Given the description of an element on the screen output the (x, y) to click on. 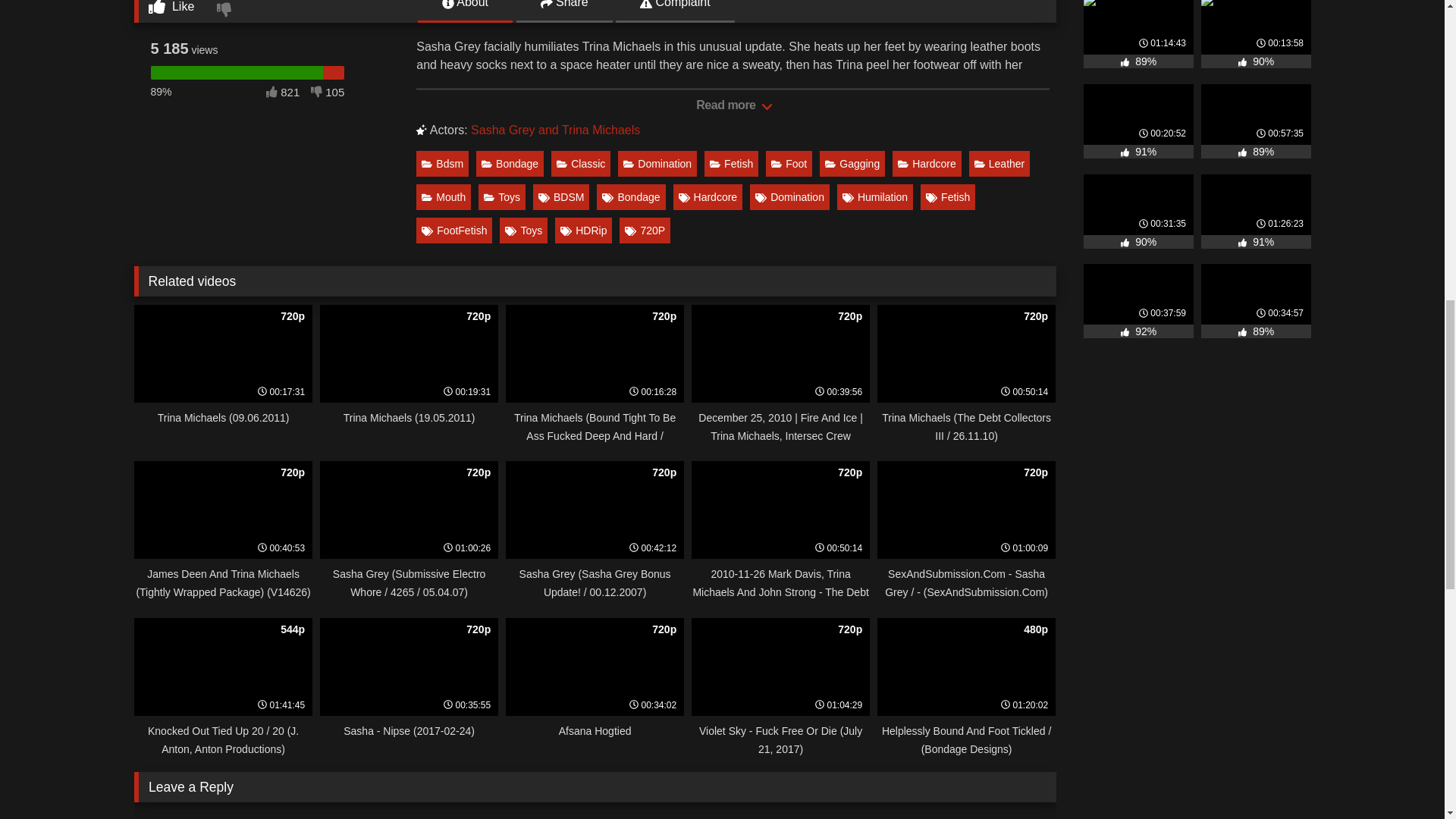
Foot (788, 163)
Leather (999, 163)
HDRip (582, 230)
Sasha Grey and Trina Michaels (555, 129)
Domination (657, 163)
Toys (523, 230)
Domination (789, 196)
I like this (171, 10)
BDSM (560, 196)
720P (644, 230)
